Given the description of an element on the screen output the (x, y) to click on. 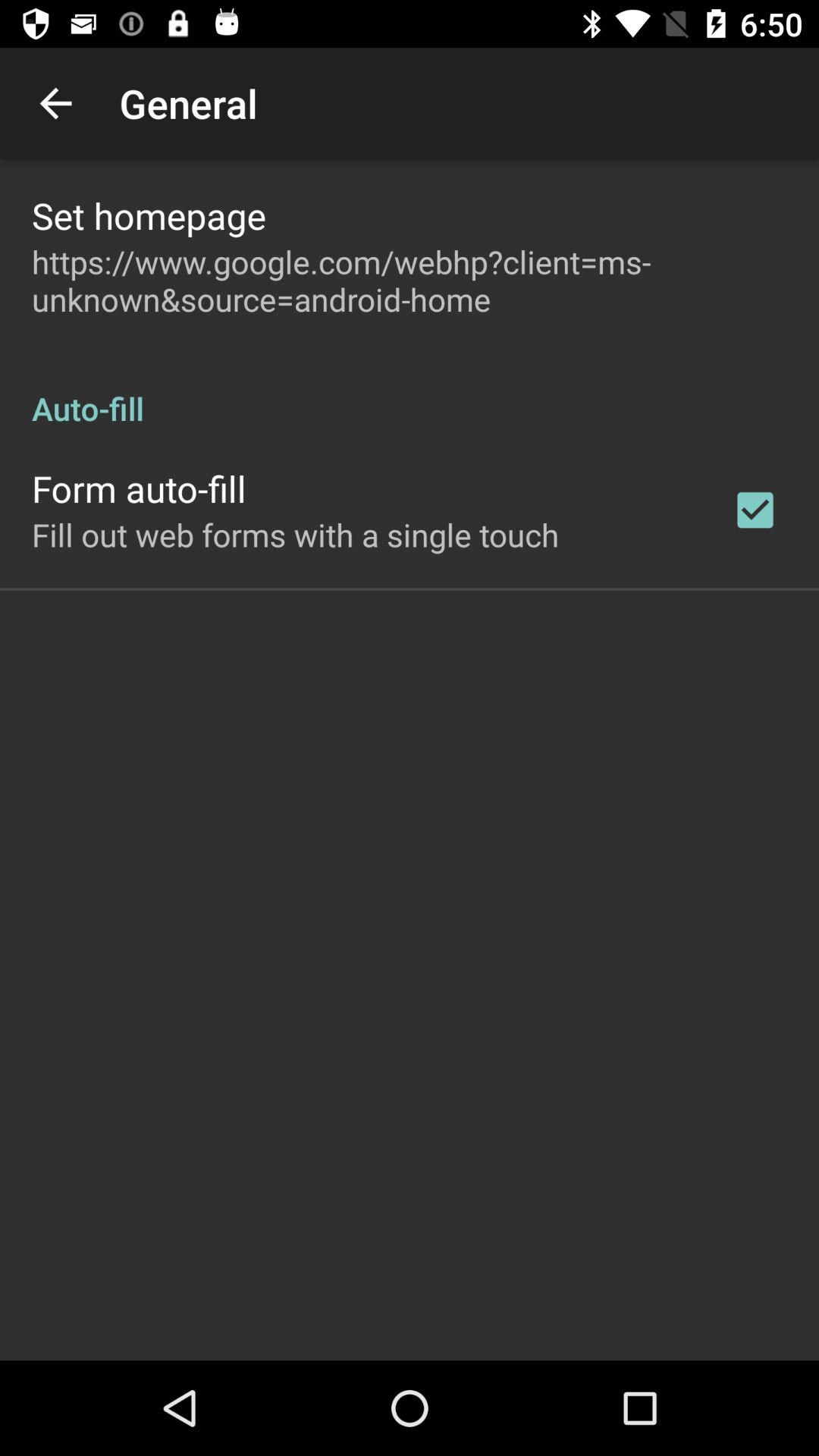
select the icon on the right (755, 510)
